Given the description of an element on the screen output the (x, y) to click on. 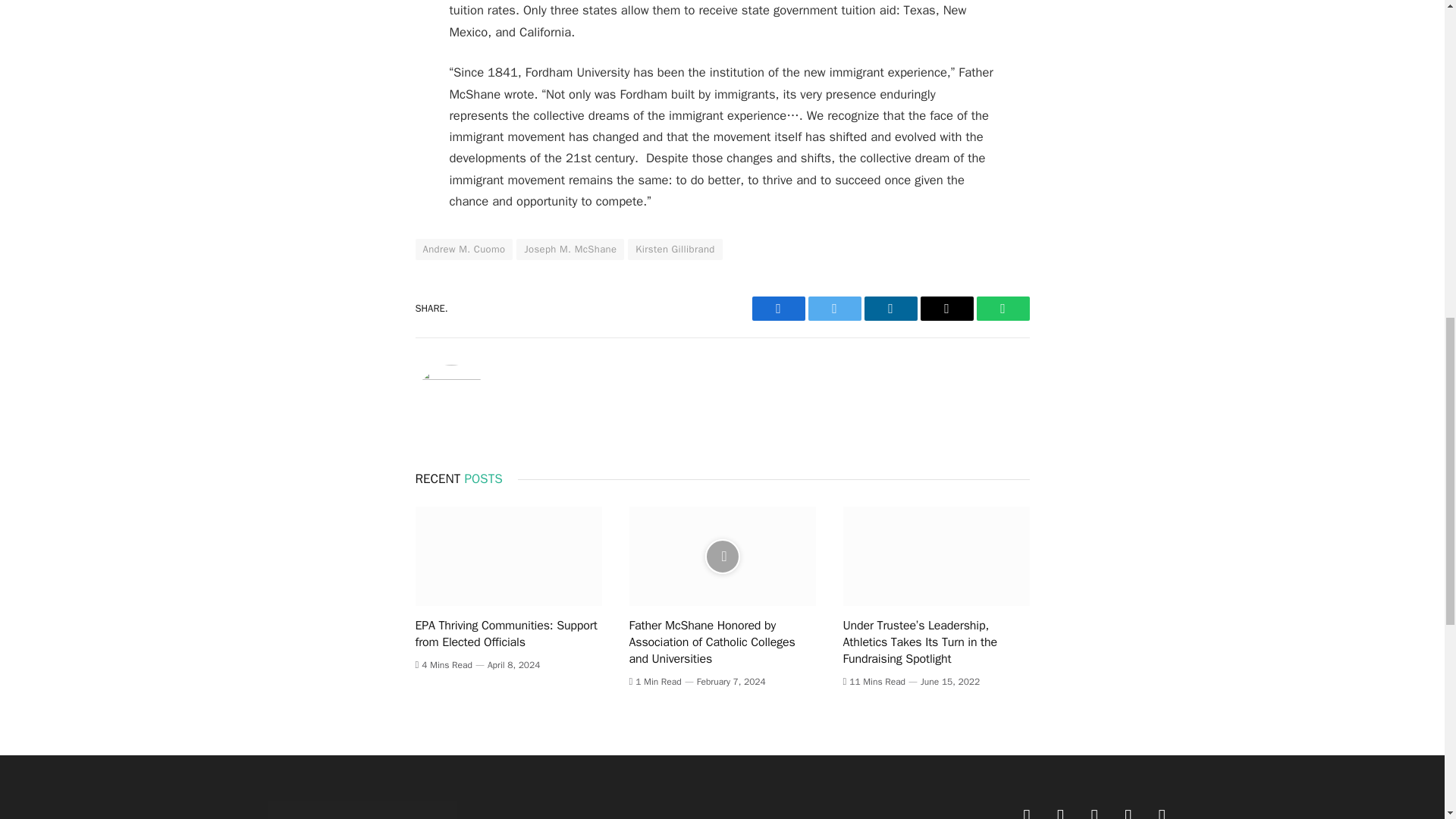
Share on LinkedIn (890, 308)
Andrew M. Cuomo (463, 249)
Kirsten Gillibrand (674, 249)
Share via Email (947, 308)
EPA Thriving Communities: Support from Elected Officials (508, 556)
Joseph M. McShane (570, 249)
Share on Facebook (778, 308)
Share on WhatsApp (1002, 308)
